Given the description of an element on the screen output the (x, y) to click on. 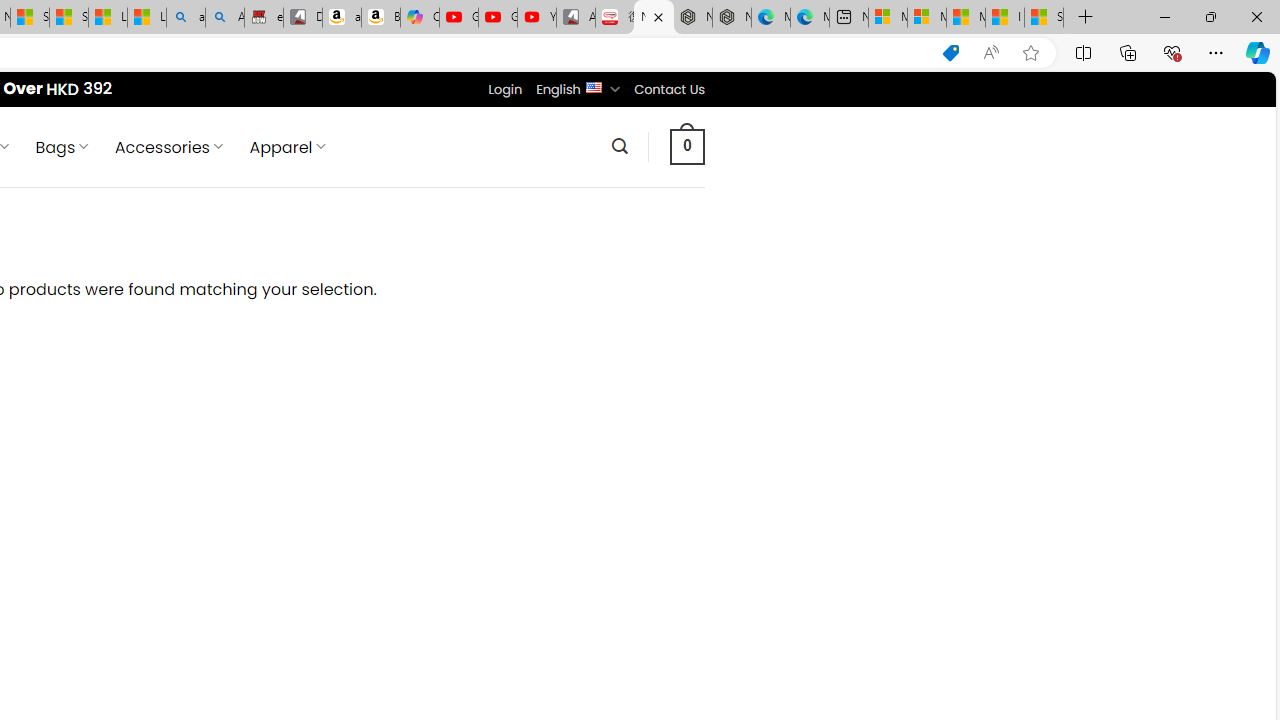
 0  (687, 146)
Contact Us (669, 89)
